Given the description of an element on the screen output the (x, y) to click on. 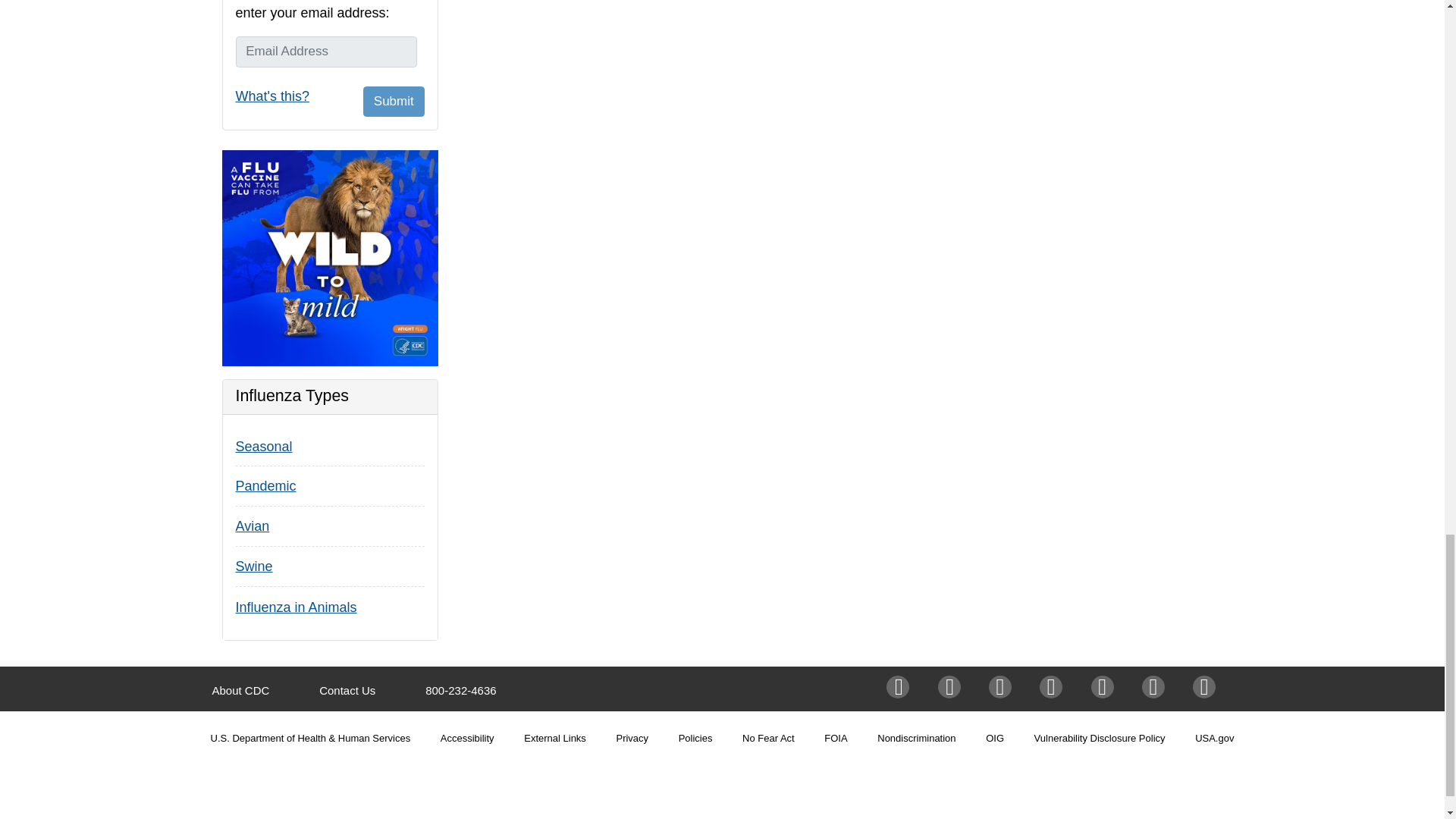
A flu vaccine can take flu from wild to mild (329, 257)
Email Address (325, 51)
